Given the description of an element on the screen output the (x, y) to click on. 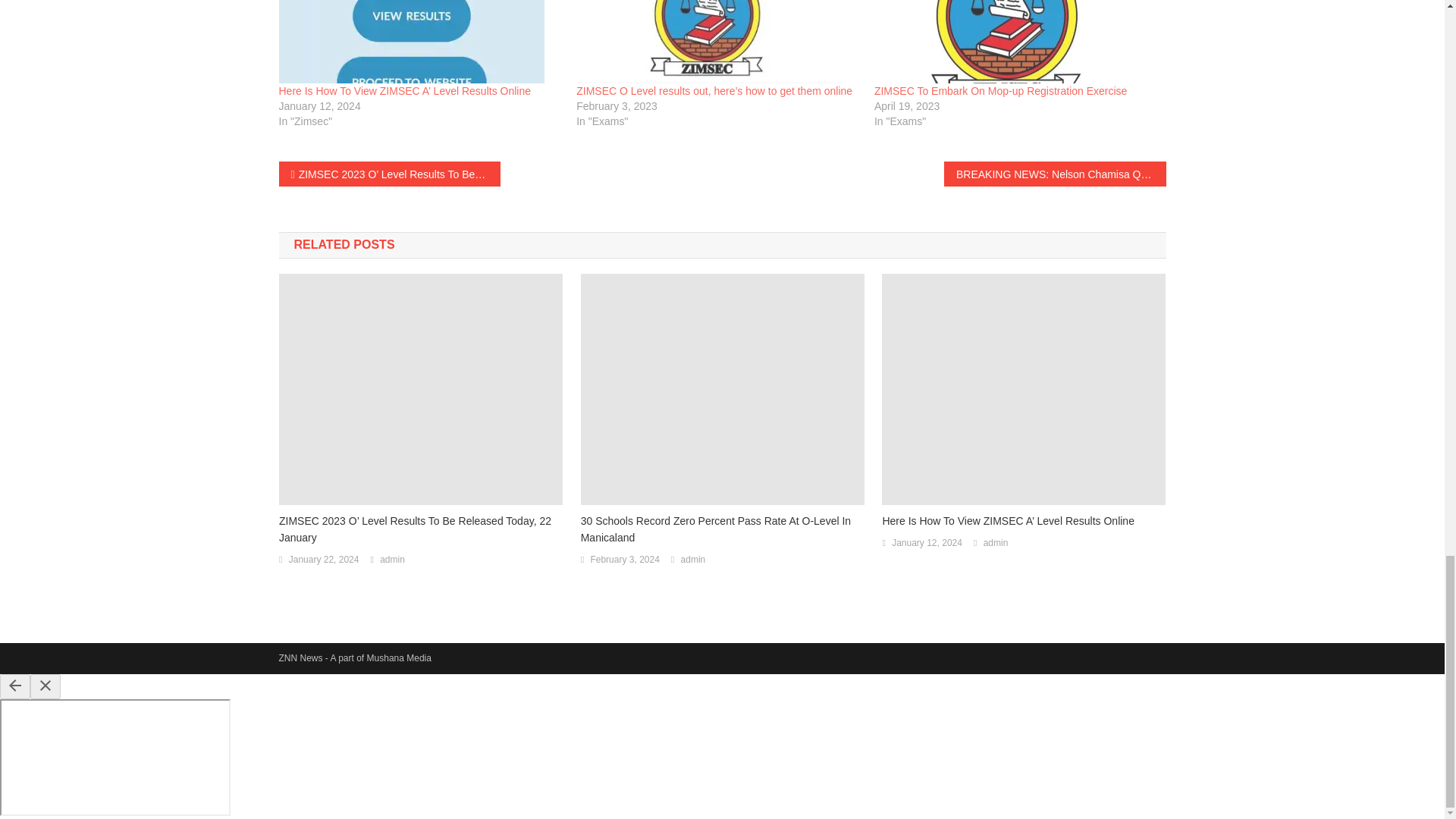
ZIMSEC To Embark On Mop-up Registration Exercise (1000, 91)
ZIMSEC To Embark On Mop-up Registration Exercise (1016, 41)
admin (693, 560)
admin (392, 560)
BREAKING NEWS: Nelson Chamisa Quits CCC (1054, 173)
February 3, 2024 (624, 560)
January 12, 2024 (926, 543)
January 22, 2024 (323, 560)
admin (996, 543)
ZIMSEC To Embark On Mop-up Registration Exercise (1000, 91)
